Given the description of an element on the screen output the (x, y) to click on. 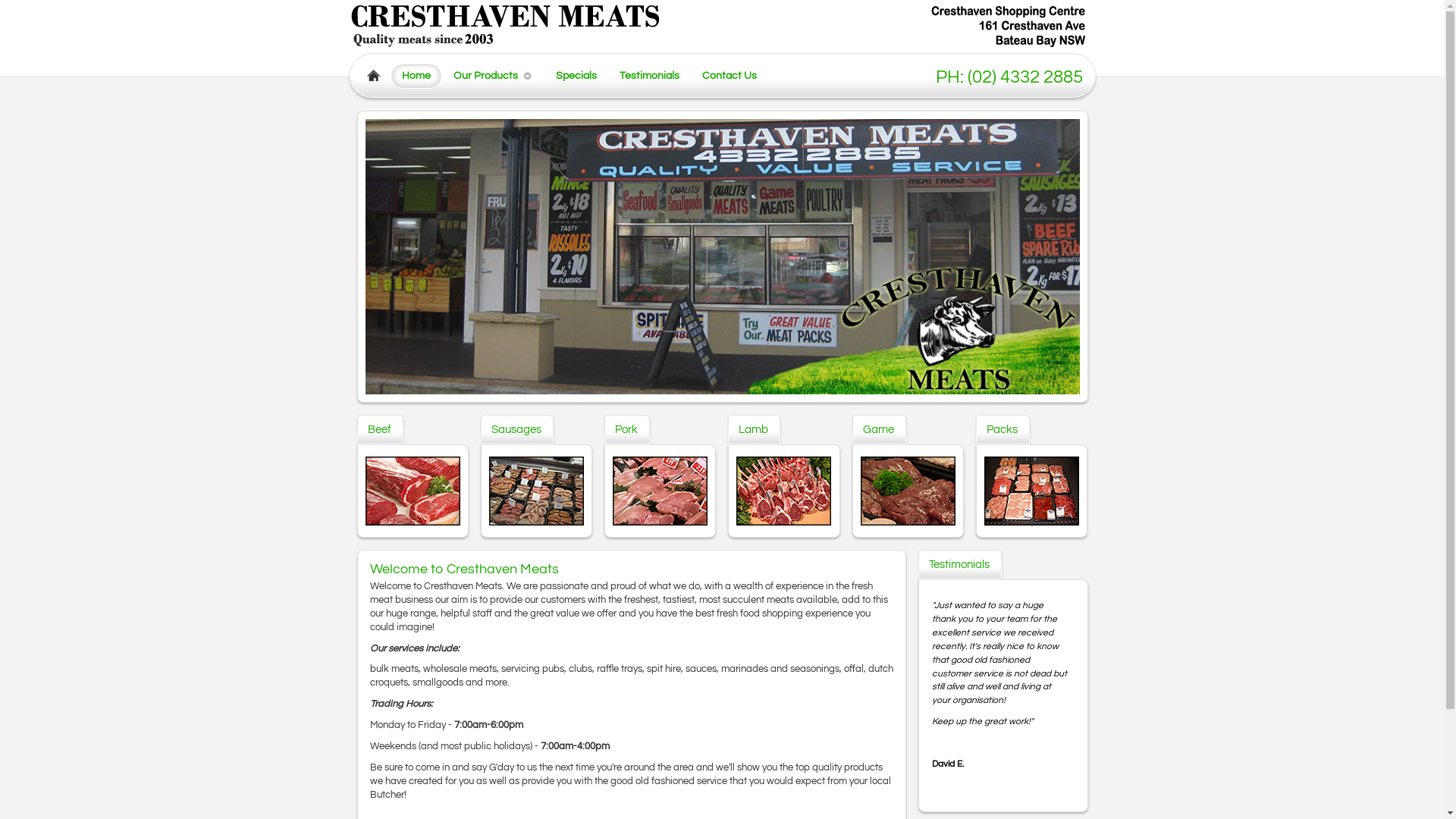
Specials Element type: text (575, 75)
Home Element type: text (416, 75)
     Element type: text (948, 695)
Specials Element type: text (575, 75)
Testimonials Element type: text (648, 75)
Home Element type: text (415, 75)
Contact Us Element type: text (729, 75)
Testimonials Element type: text (648, 75)
Contact Us Element type: text (729, 75)
Our Products Element type: text (485, 75)
     Element type: text (1056, 695)
Our Products Element type: text (486, 75)
